Given the description of an element on the screen output the (x, y) to click on. 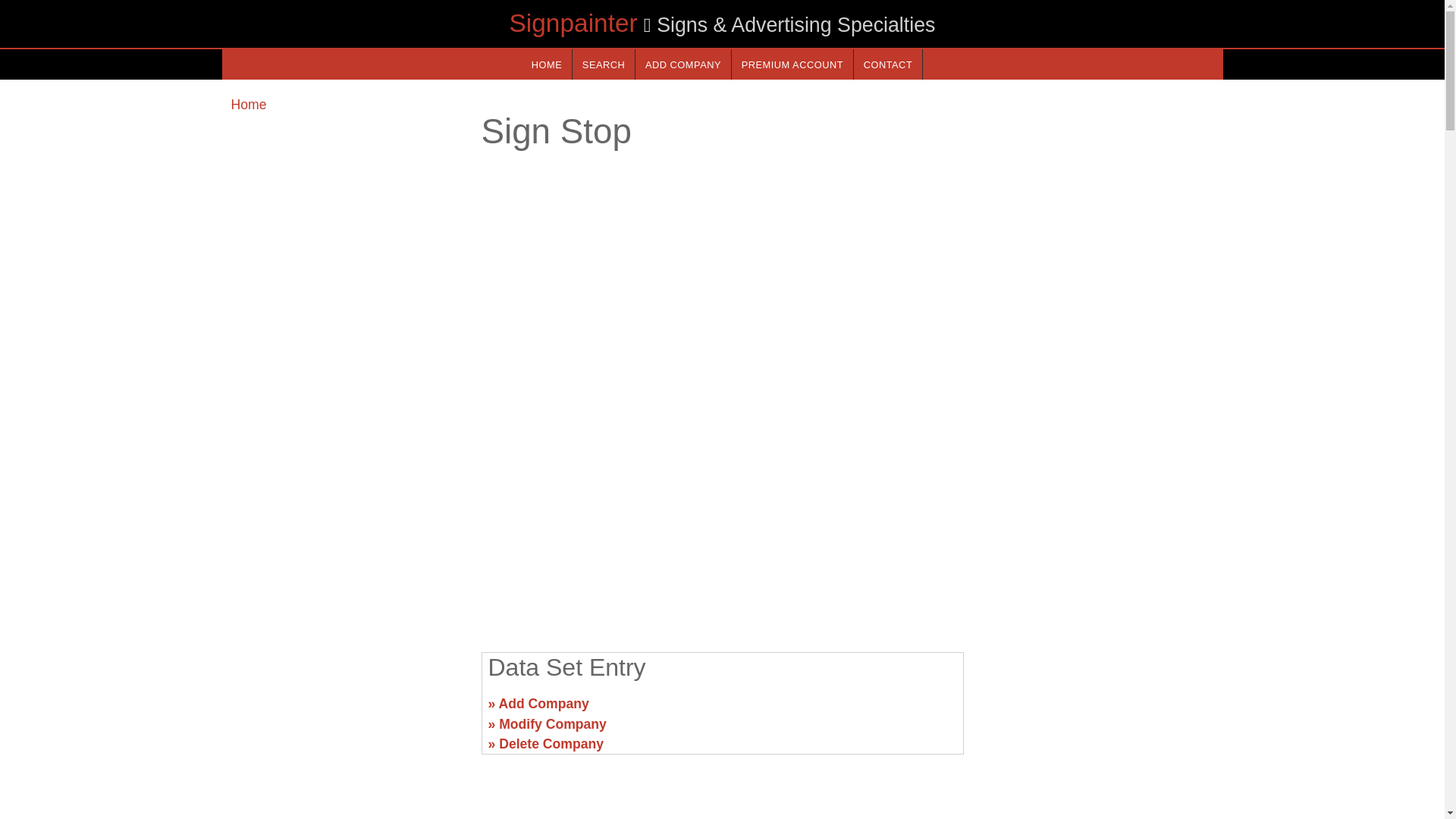
Home (248, 104)
ADD COMPANY (682, 64)
PREMIUM ACCOUNT (792, 64)
Signpainter (573, 22)
SEARCH (603, 64)
Premium account (792, 64)
Search in this webseite. (603, 64)
CONTACT (887, 64)
HOME (546, 64)
